Given the description of an element on the screen output the (x, y) to click on. 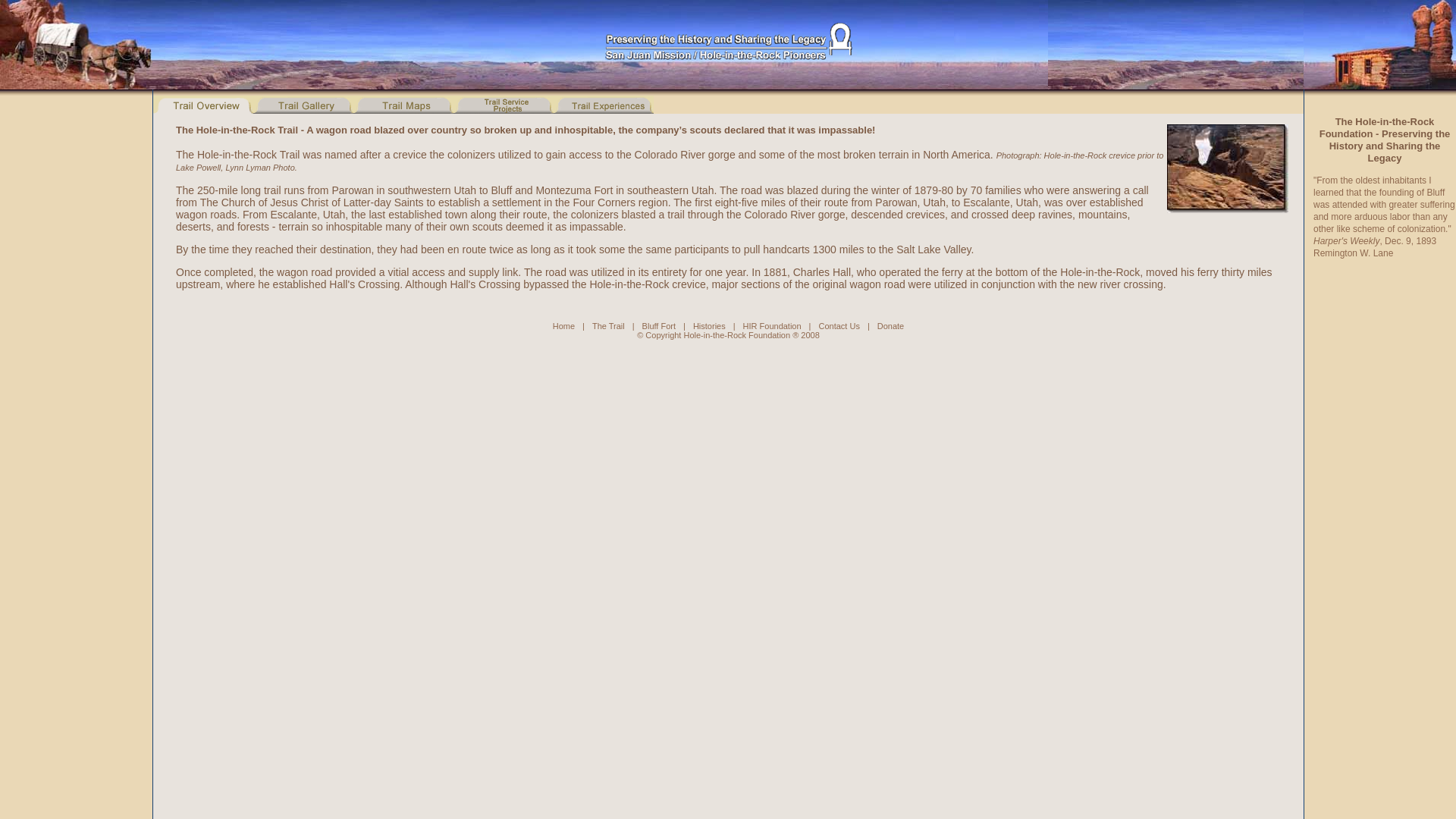
Bluff Fort (658, 325)
Contact Us (838, 325)
Harper's Weekly, Dec. 9, 1893 (1374, 240)
Histories (709, 325)
Home (641, 330)
HIR Foundation (772, 325)
Donate (890, 325)
The Trail (608, 325)
